Given the description of an element on the screen output the (x, y) to click on. 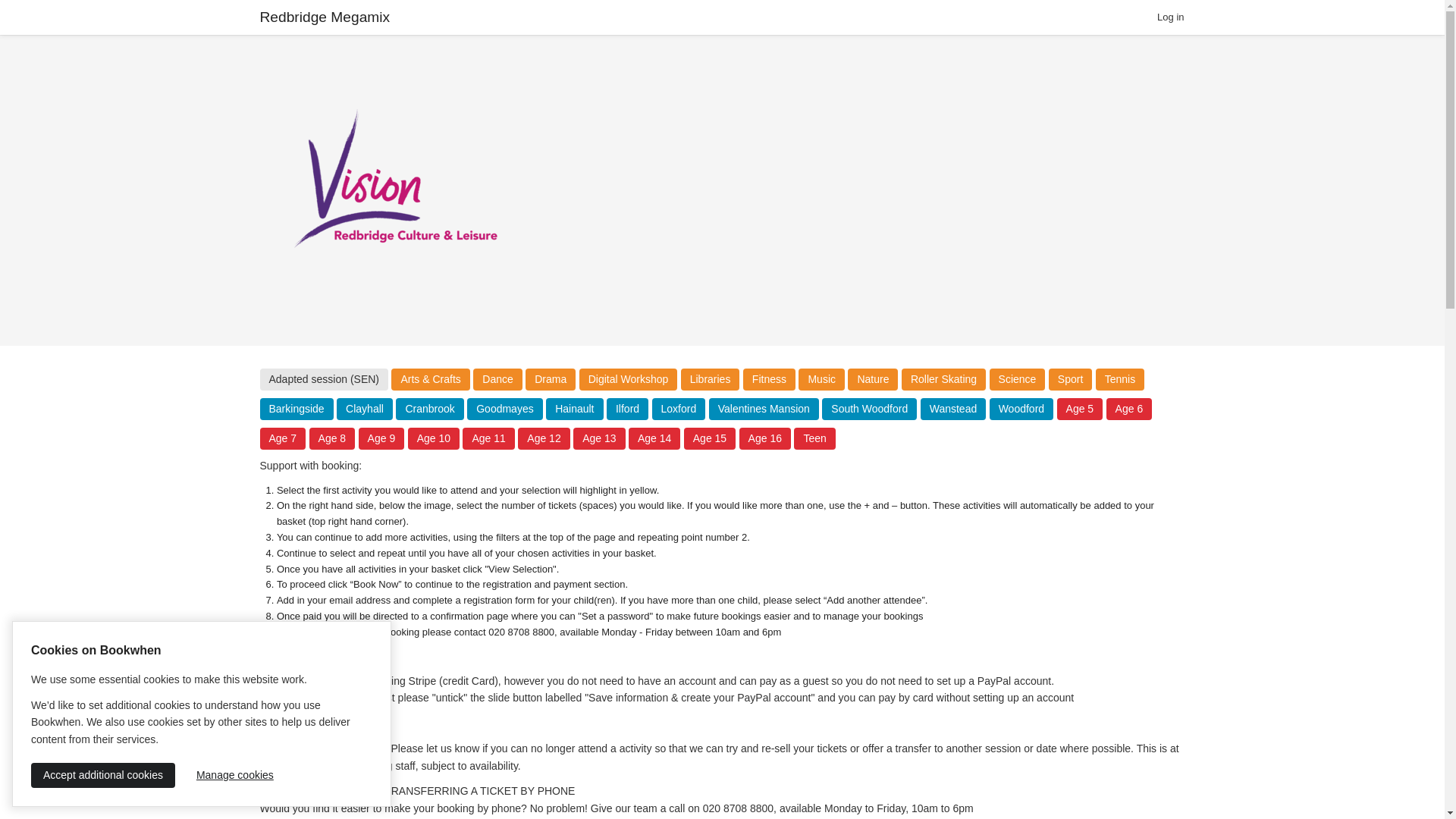
Roller Skating (943, 379)
Wanstead (953, 409)
Digital Workshop (628, 379)
Science (1017, 379)
Drama (550, 379)
Age 9 (381, 438)
Age 12 (543, 438)
Music (820, 379)
South Woodford (869, 409)
Valentines Mansion (763, 409)
